Given the description of an element on the screen output the (x, y) to click on. 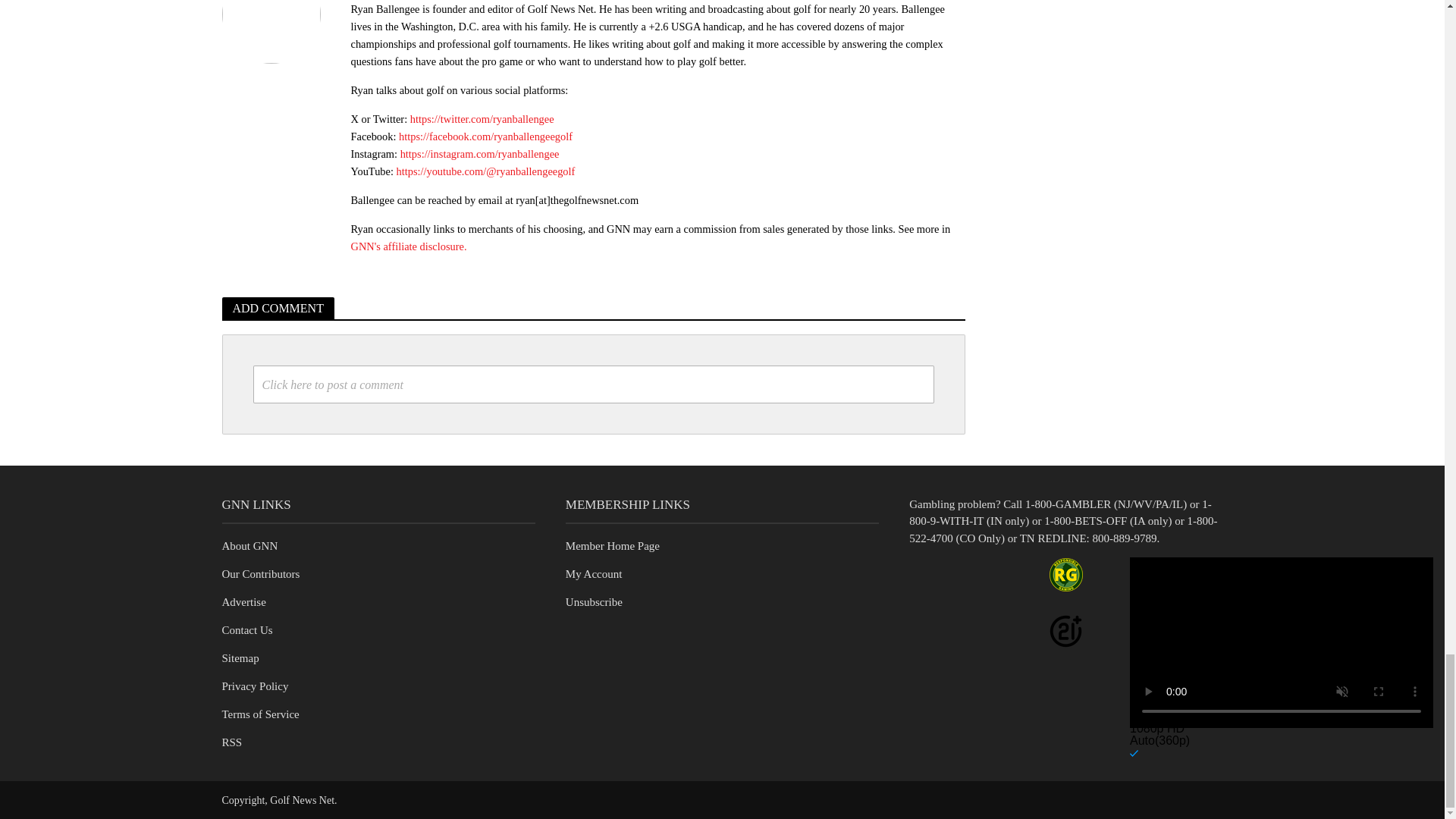
Terms of Service (259, 714)
Contact Page (246, 630)
Sitemap (240, 657)
Advertising Info (242, 602)
Privacy Policy (254, 686)
About Page (249, 545)
Contributors List (260, 573)
